Given the description of an element on the screen output the (x, y) to click on. 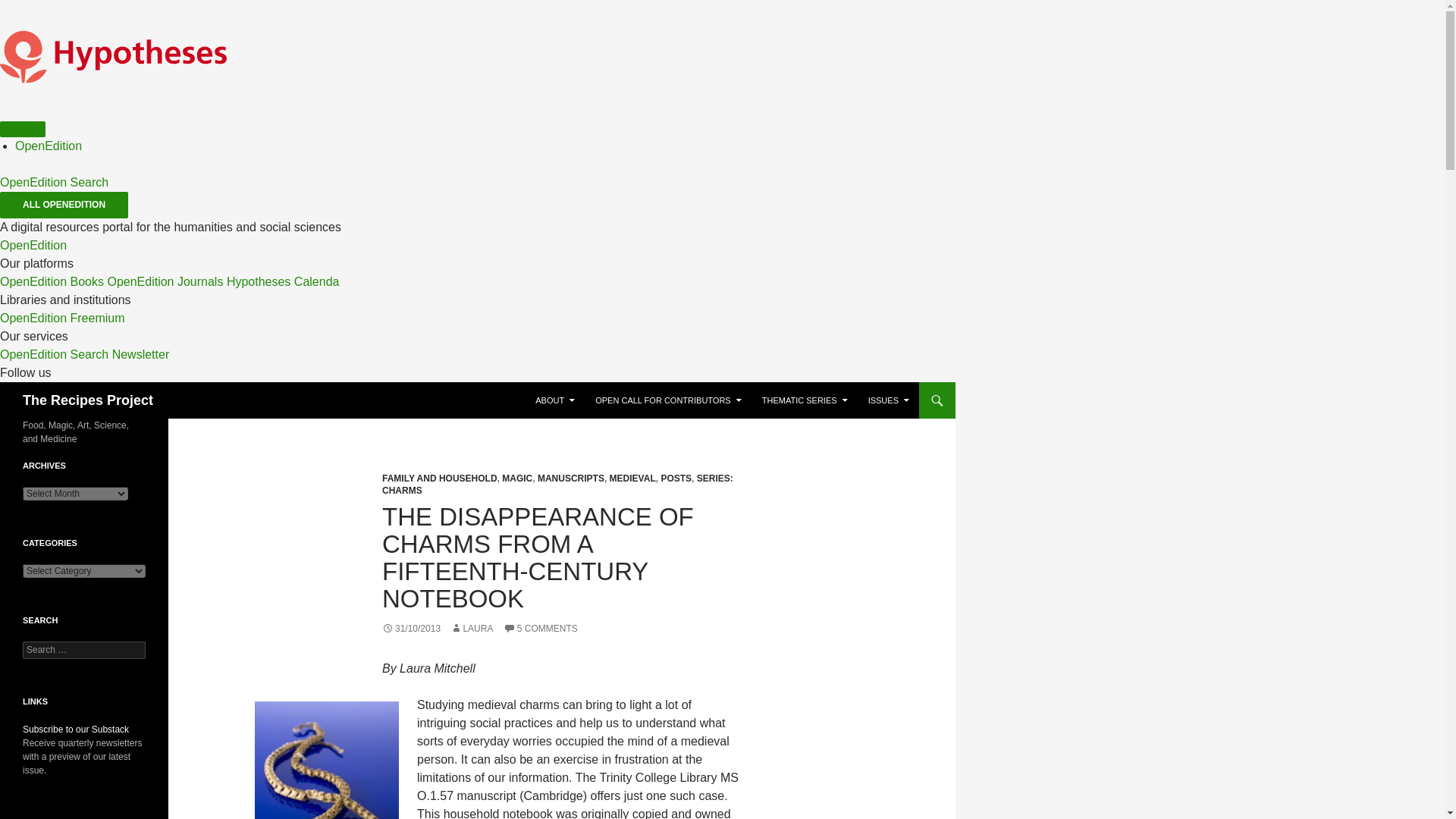
OpenEdition (47, 145)
OpenEdition Journals (164, 281)
ALL OPENEDITION (64, 204)
OPEN CALL FOR CONTRIBUTORS (667, 400)
Hypotheses (259, 281)
OpenEdition (33, 245)
OpenEdition Search (53, 182)
Newsletter (141, 354)
Home (113, 109)
THEMATIC SERIES (804, 400)
ABOUT (554, 400)
The Recipes Project (87, 400)
OpenEdition Search (53, 354)
